Given the description of an element on the screen output the (x, y) to click on. 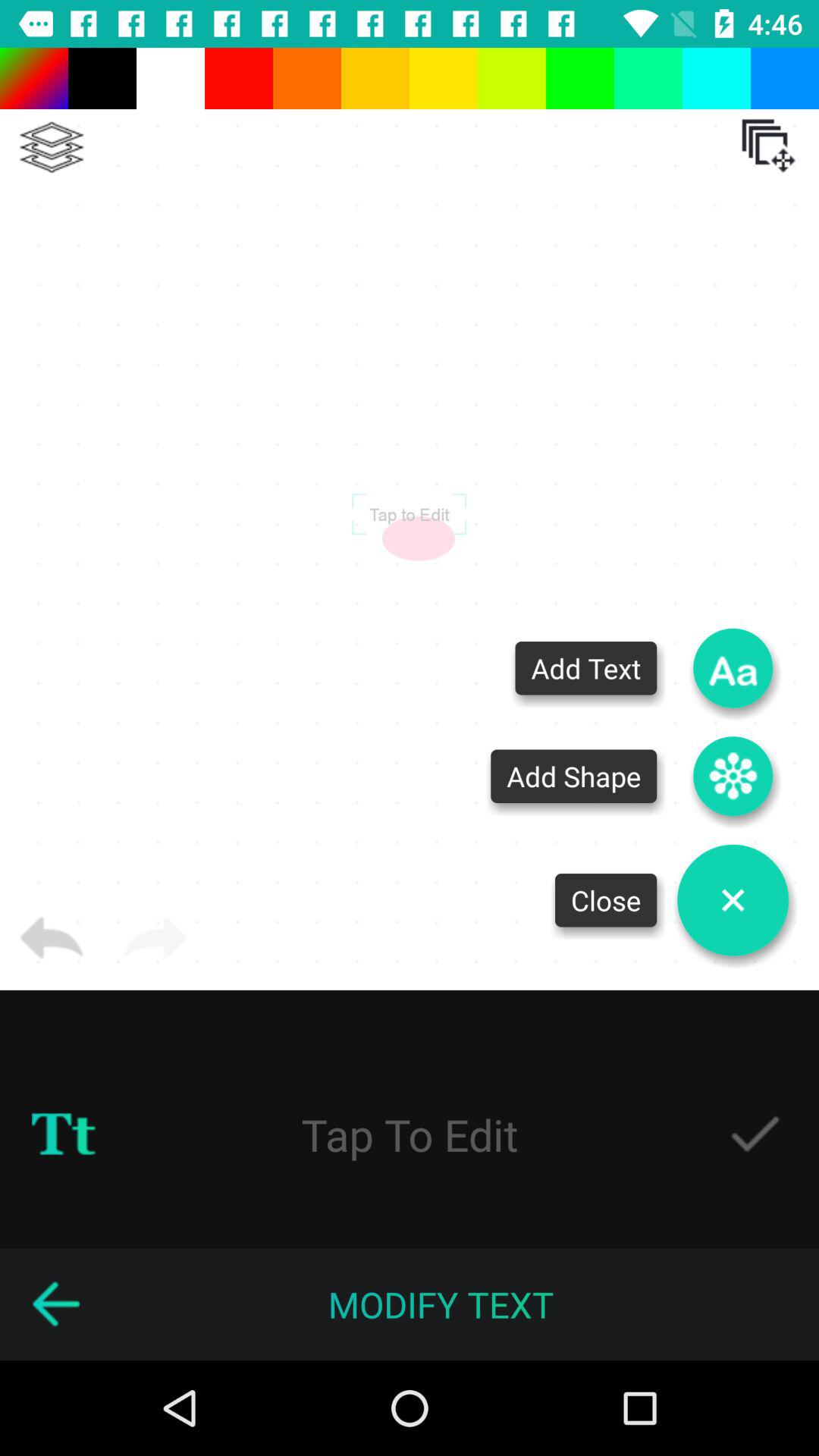
return to previous (51, 938)
